Given the description of an element on the screen output the (x, y) to click on. 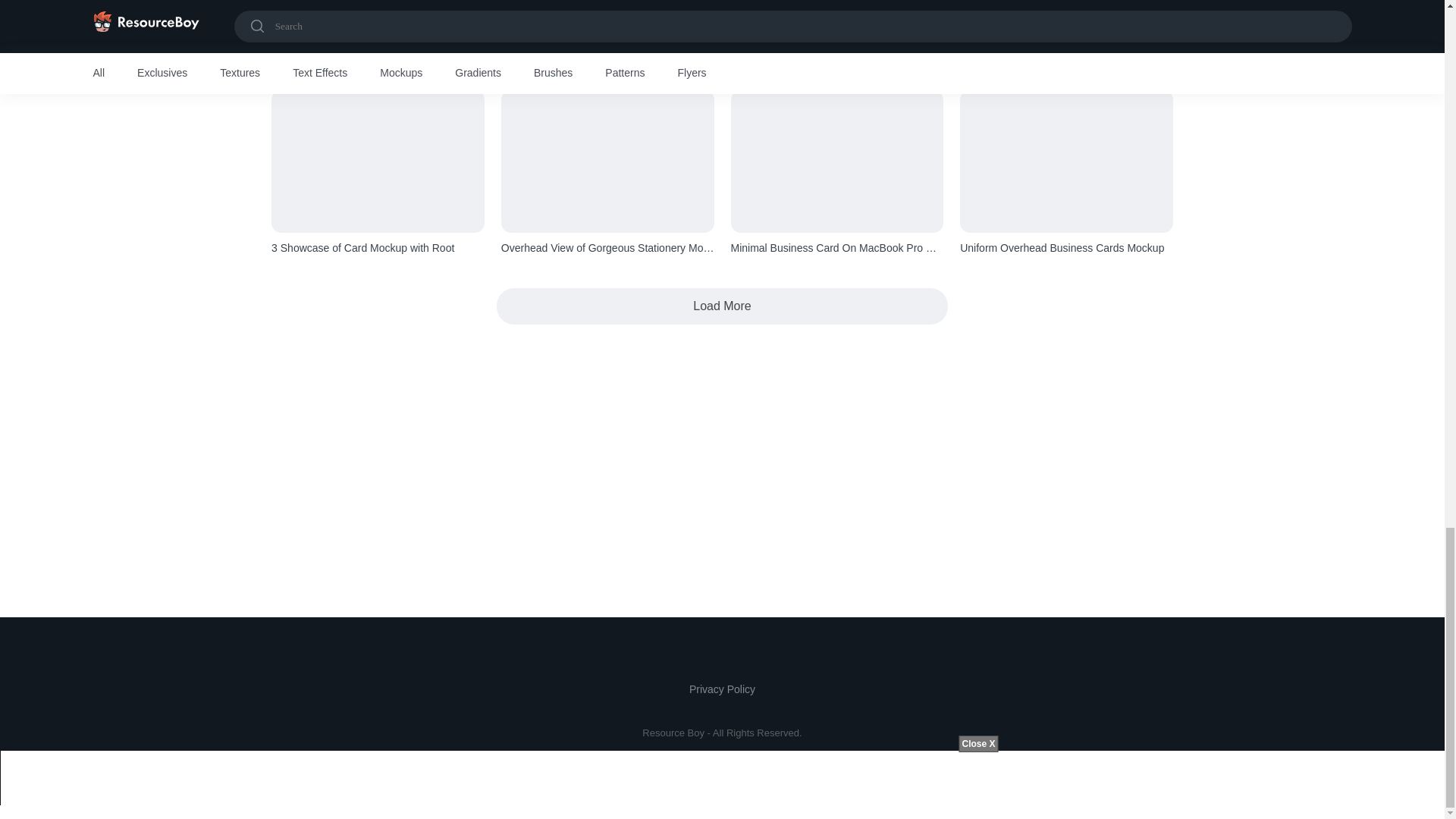
3rd party ad content (721, 449)
